Given the description of an element on the screen output the (x, y) to click on. 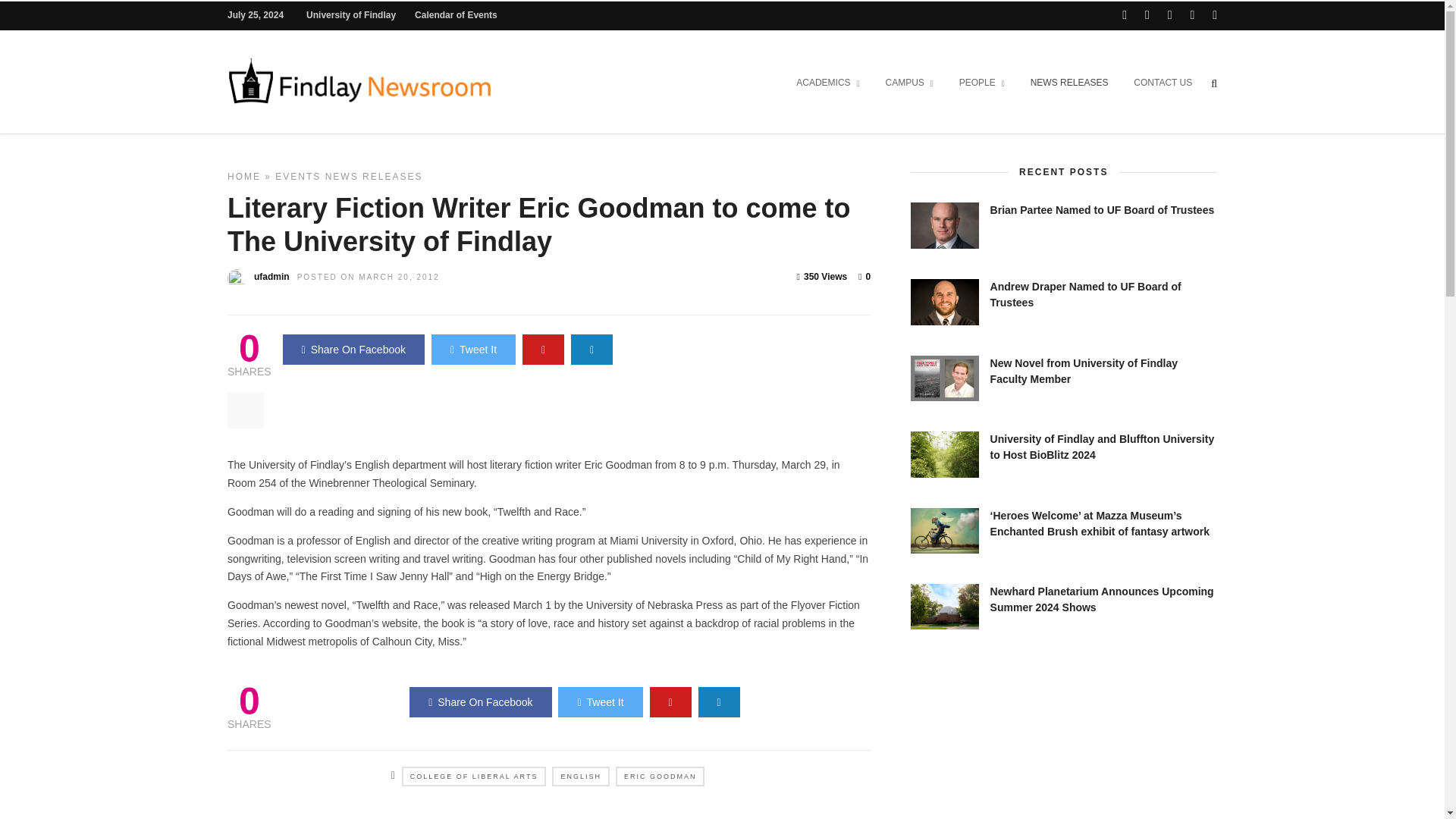
Share On Facebook (353, 349)
Share On Twitter (472, 349)
University of Findlay (350, 14)
Share On Facebook (480, 702)
Youtube (1169, 15)
Share by Email (591, 349)
Share On Pinterest (670, 702)
Calendar of Events (455, 14)
Share On Twitter (599, 702)
Linkedin (1191, 15)
Share by Email (718, 702)
Share On Pinterest (543, 349)
Instagram (1214, 15)
